Given the description of an element on the screen output the (x, y) to click on. 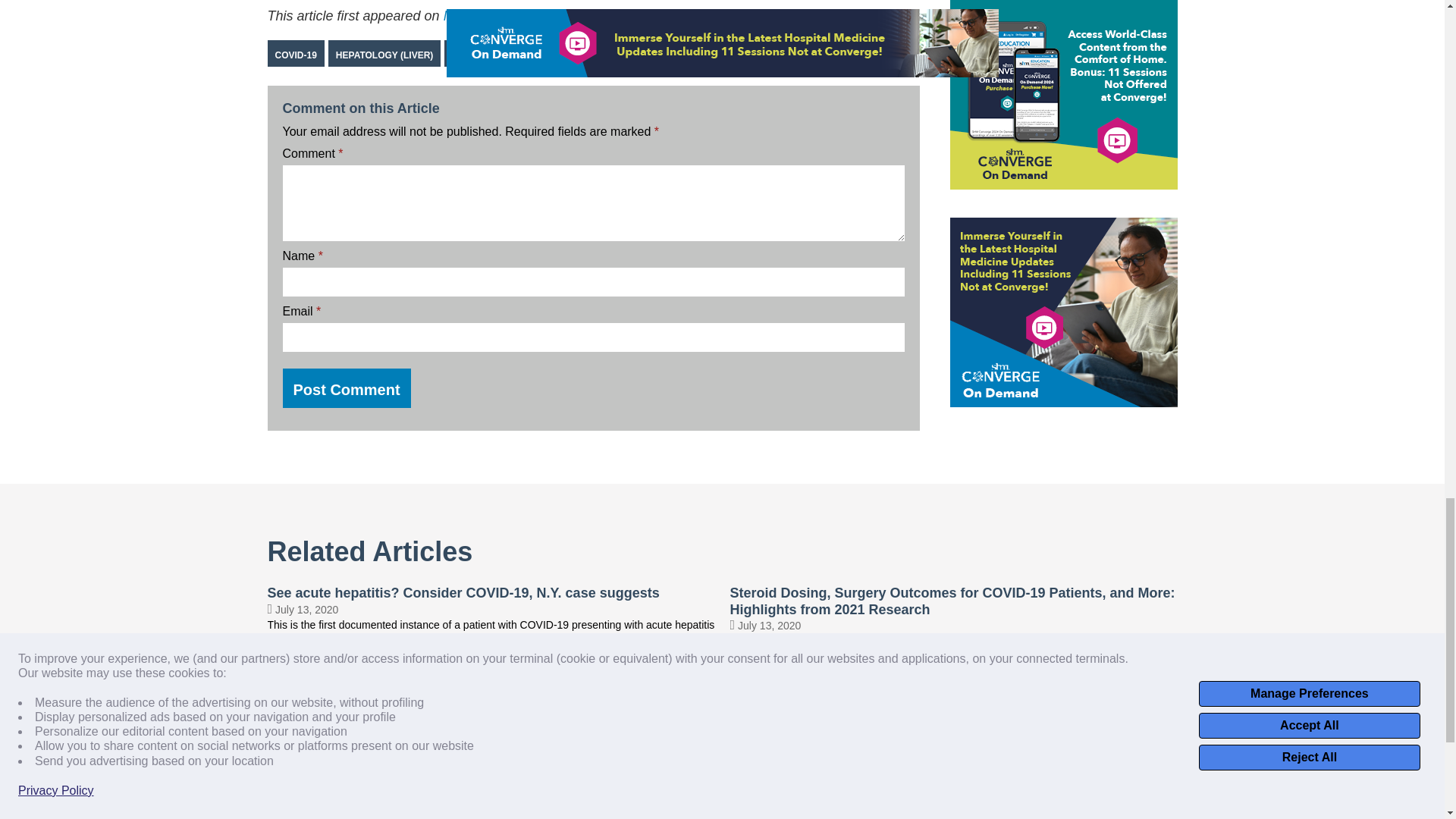
Post Comment (346, 387)
